Given the description of an element on the screen output the (x, y) to click on. 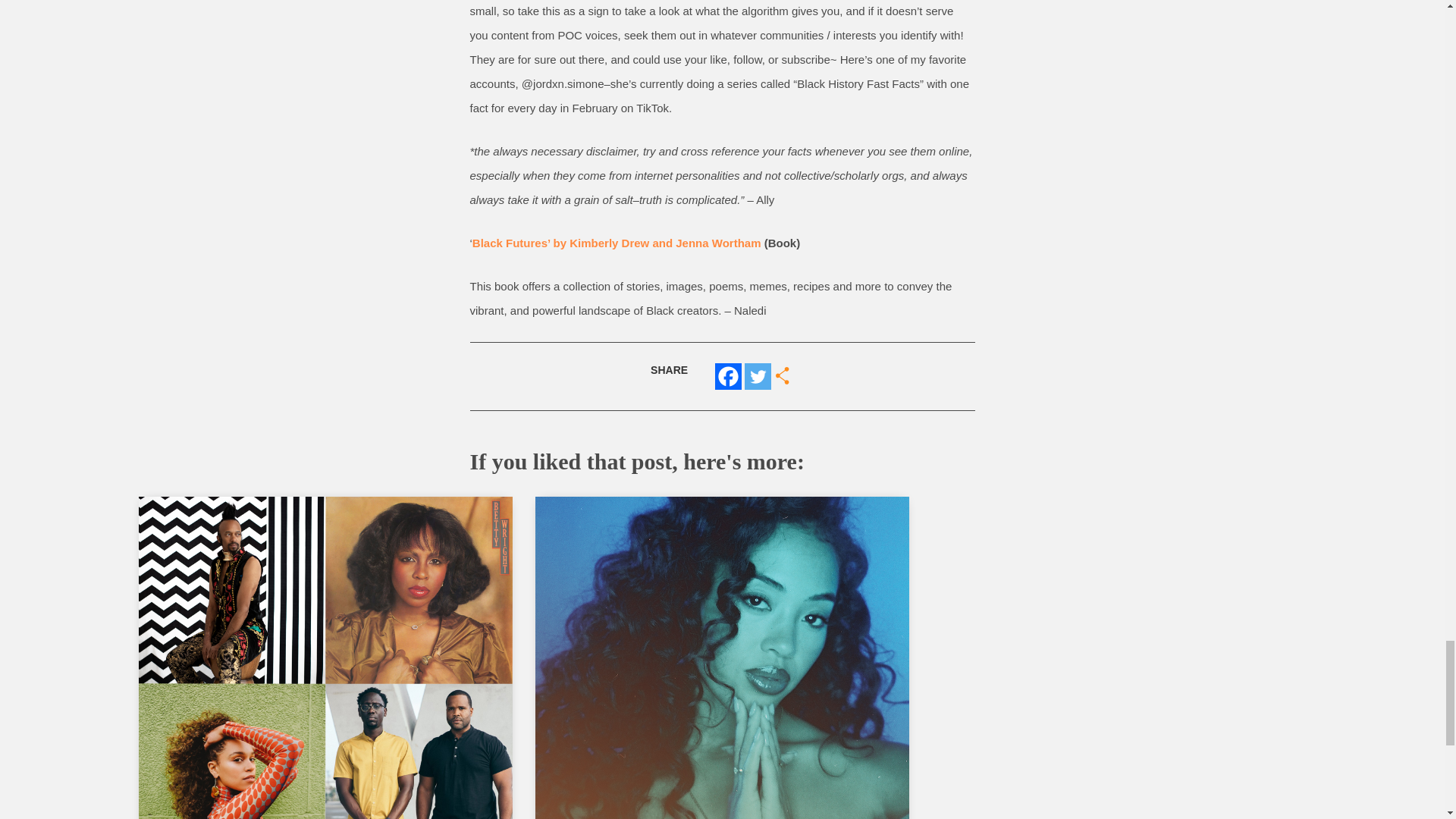
Twitter (757, 376)
Facebook (727, 376)
